Given the description of an element on the screen output the (x, y) to click on. 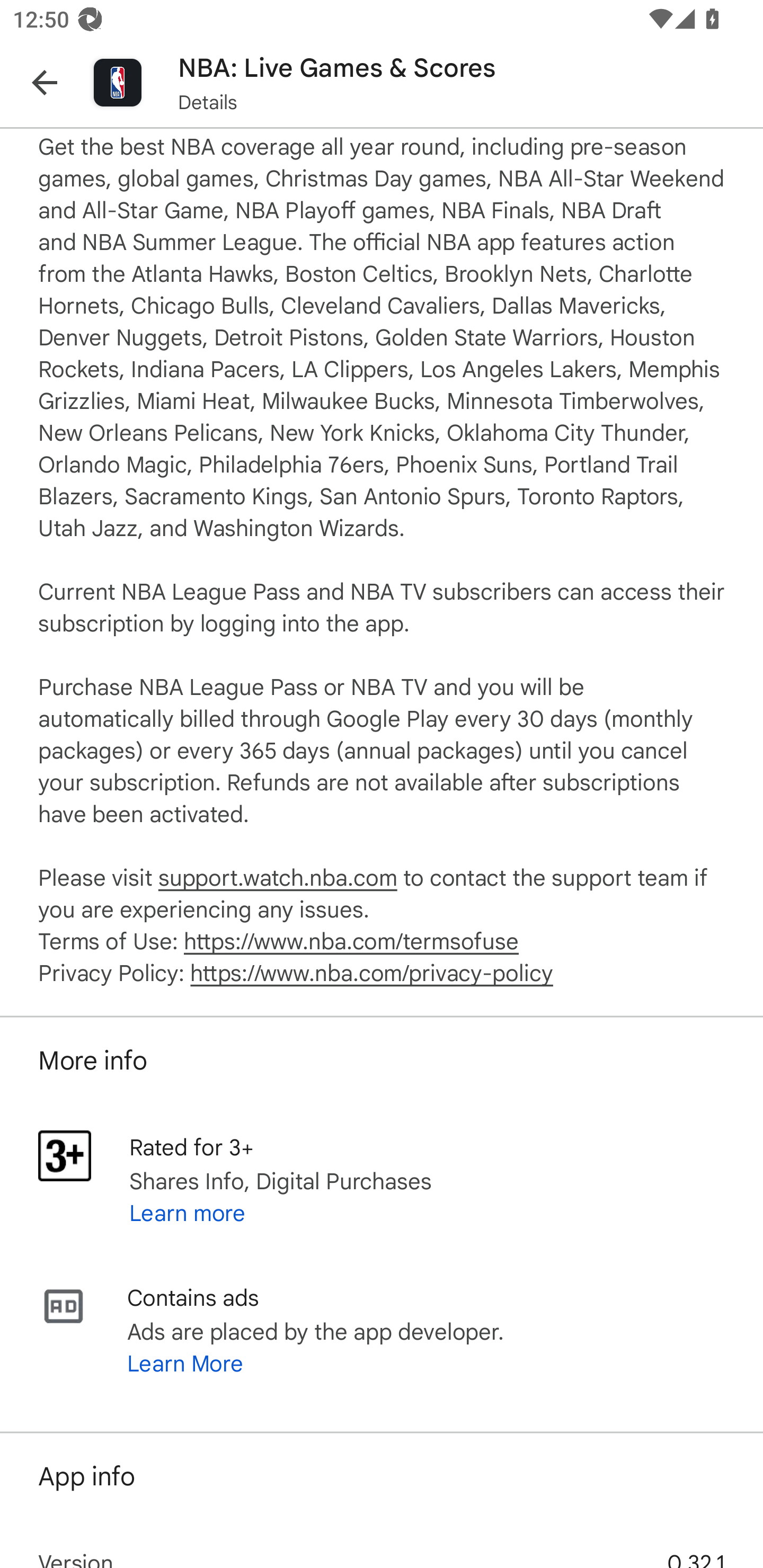
Navigate up (44, 82)
